Given the description of an element on the screen output the (x, y) to click on. 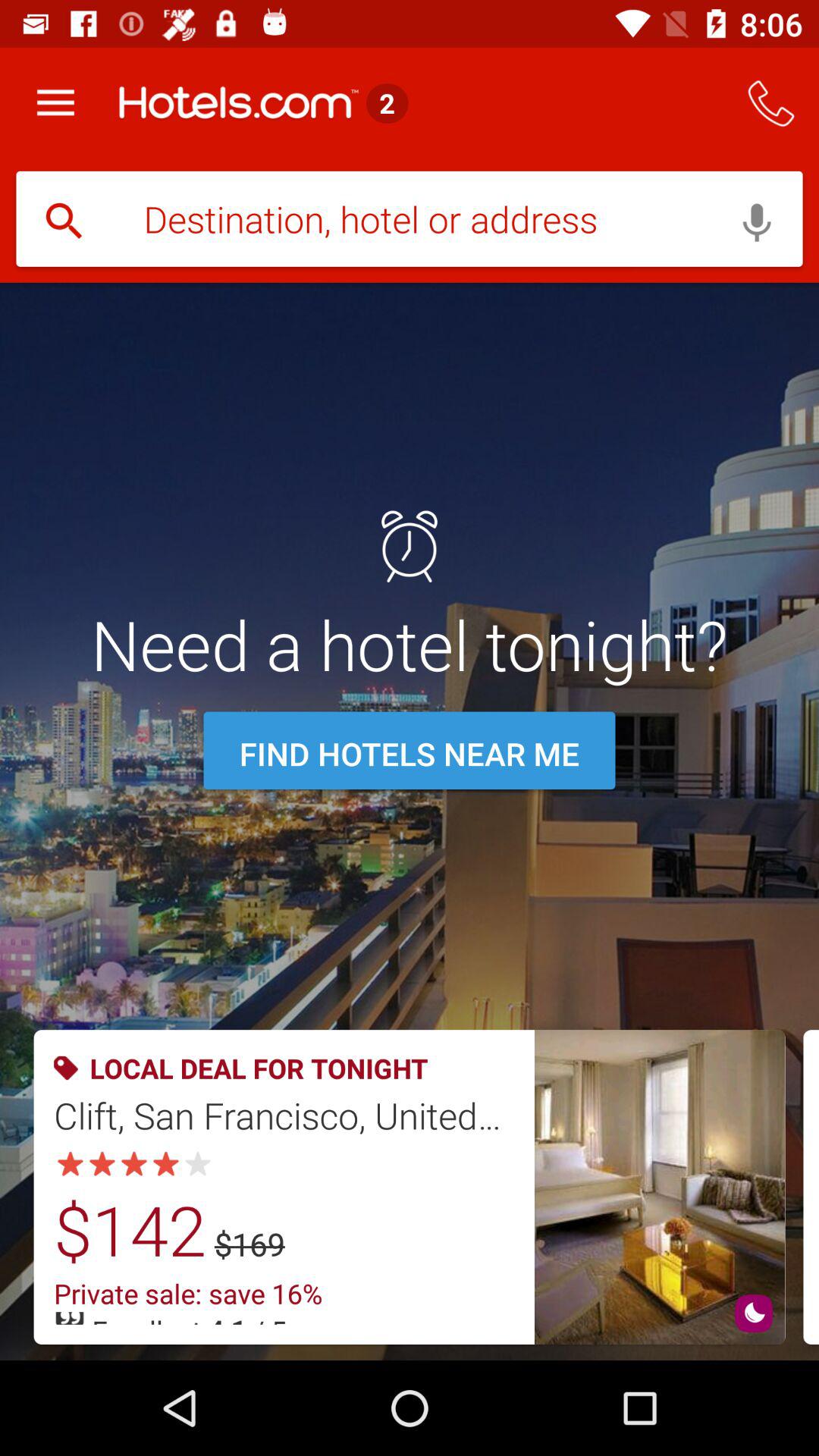
launch the icon next to the 2 (771, 103)
